Given the description of an element on the screen output the (x, y) to click on. 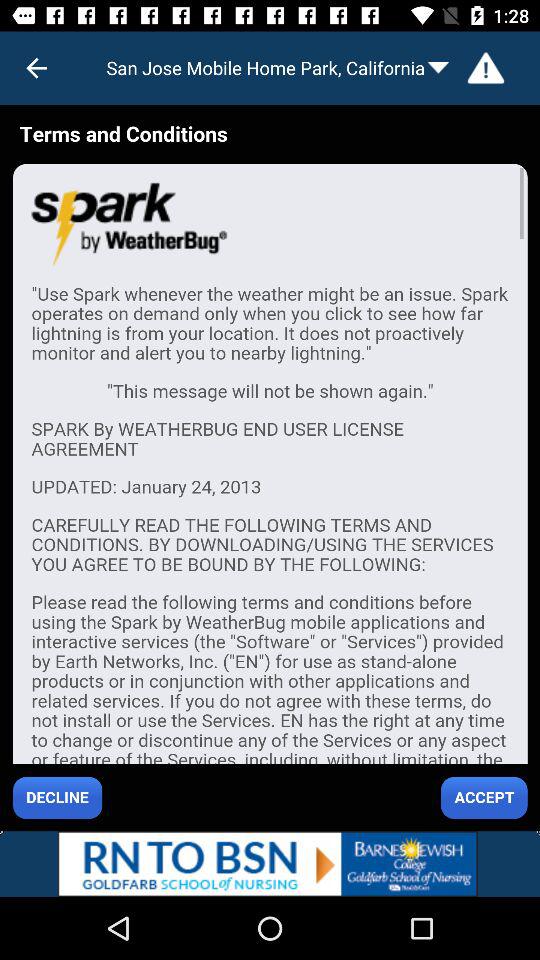
warning (485, 68)
